Given the description of an element on the screen output the (x, y) to click on. 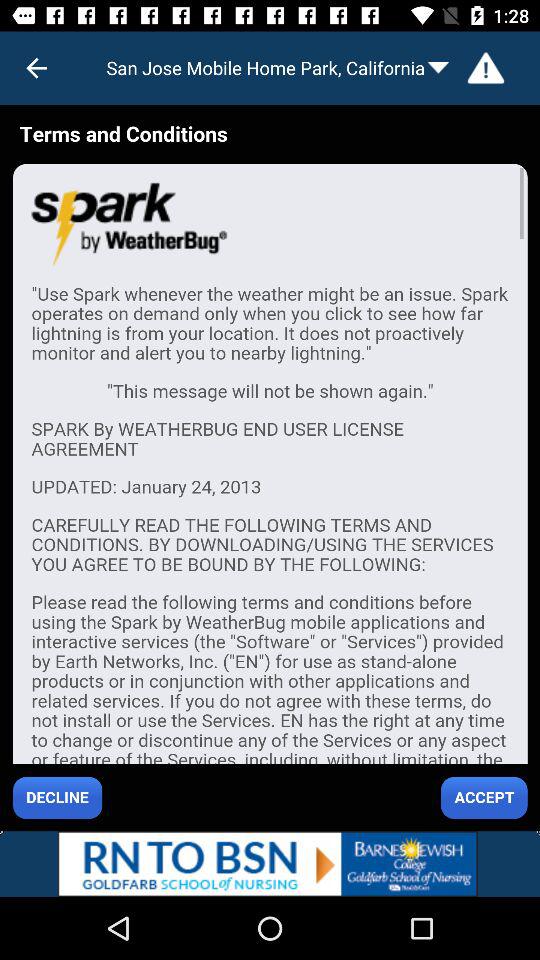
warning (485, 68)
